Given the description of an element on the screen output the (x, y) to click on. 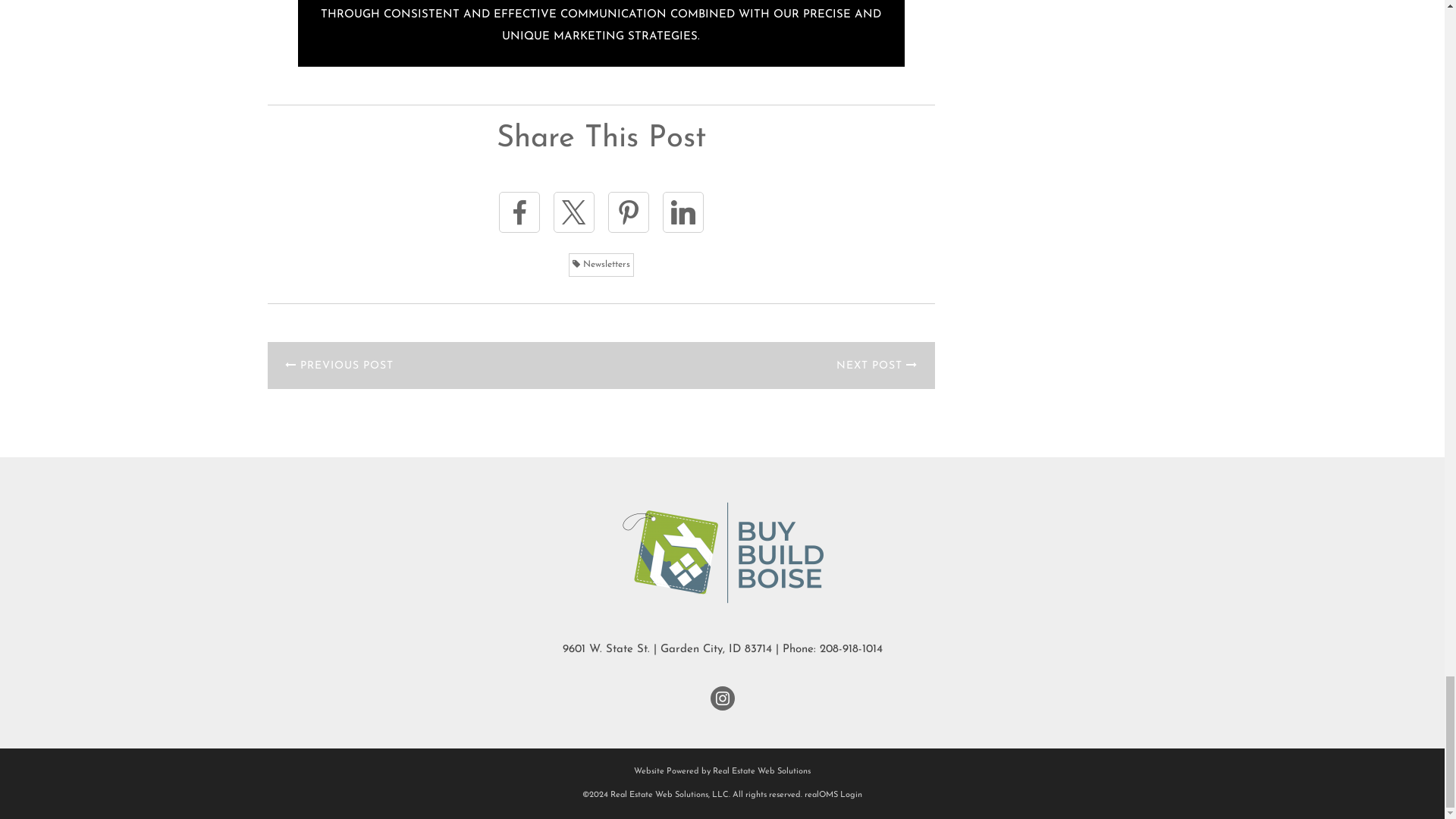
Share on Facebook (519, 211)
Visit me on Instagram (722, 698)
Share on X (573, 211)
Share on Linked In (682, 211)
Share on Pinterest (628, 211)
